Given the description of an element on the screen output the (x, y) to click on. 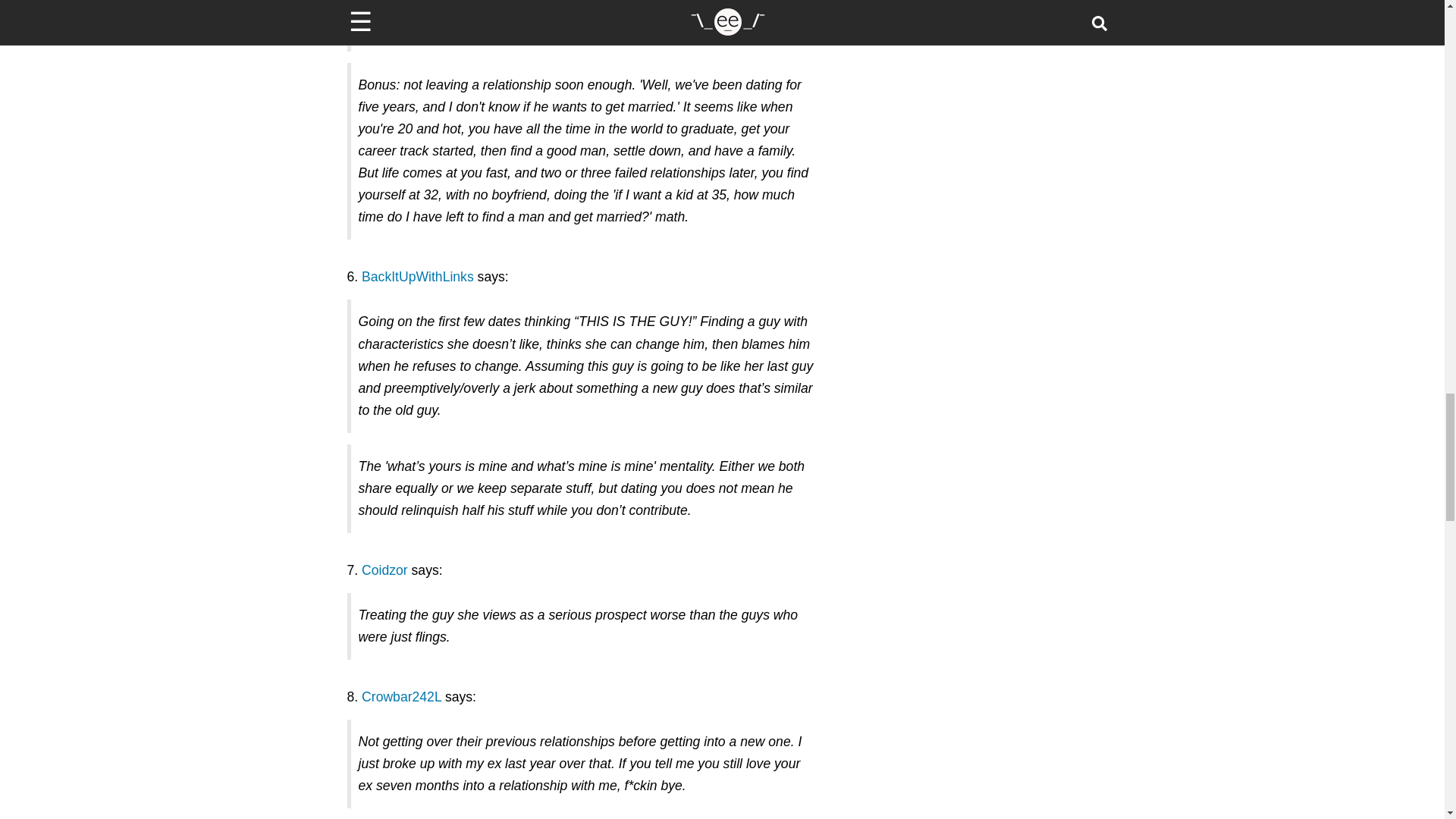
Crowbar242L (401, 696)
BackItUpWithLinks (417, 276)
Coidzor (384, 570)
